Given the description of an element on the screen output the (x, y) to click on. 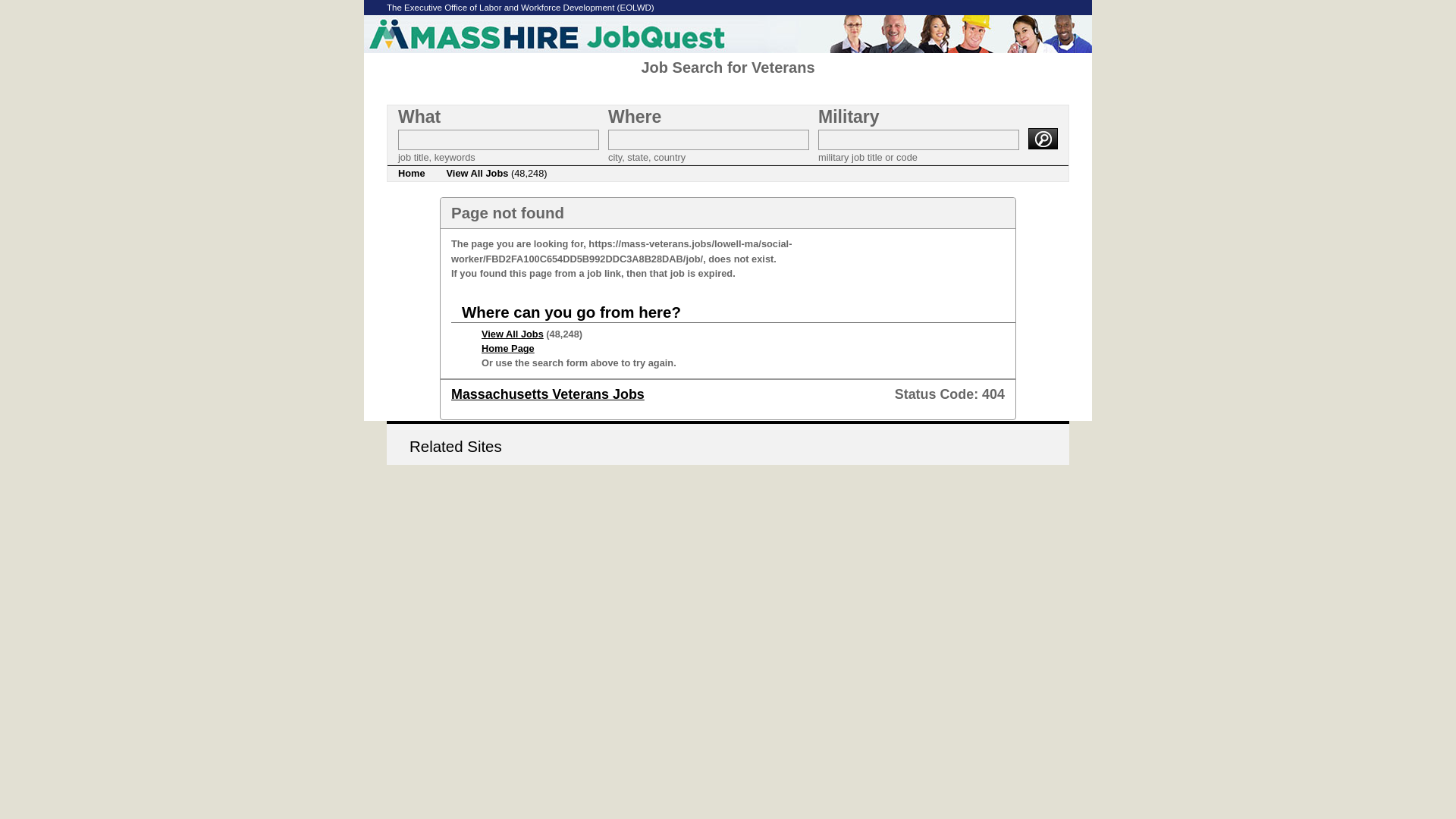
Submit Search (1042, 138)
Search Phrase (497, 139)
search (1042, 138)
search (1042, 138)
Search Location (708, 139)
Search MOC (918, 139)
View All Jobs (512, 333)
Home (411, 173)
Massachusetts Veterans Jobs (548, 394)
Home Page (507, 348)
